Given the description of an element on the screen output the (x, y) to click on. 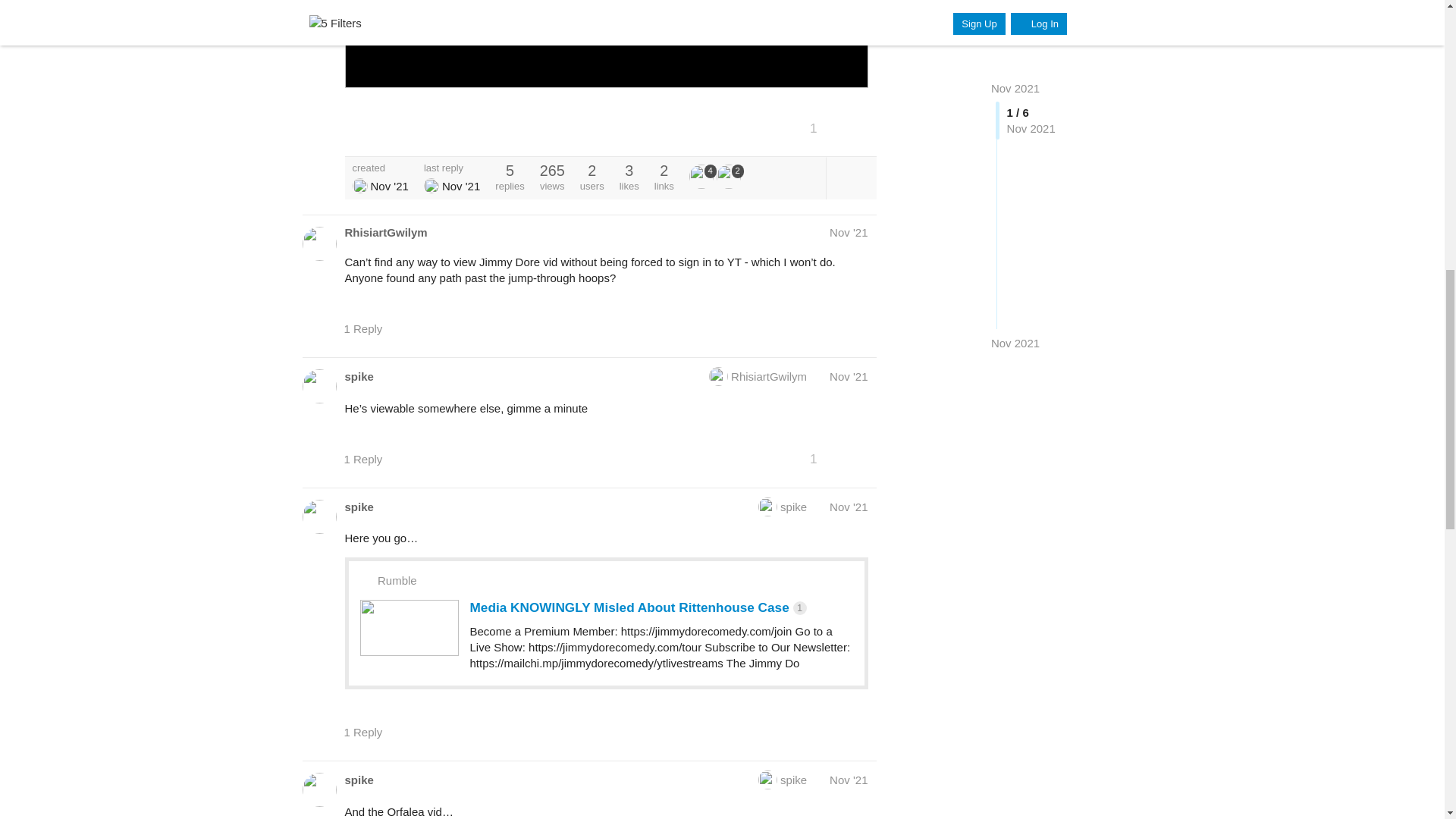
Media KNOWINGLY Misled About Rittenhouse Case (605, 43)
28 Nov 2021 05:19 (461, 185)
last reply (451, 167)
share a link to this post (861, 127)
spike (359, 185)
RhisiartGwilym (751, 375)
spike (357, 376)
spike (700, 176)
expand topic details (850, 178)
1 Reply (370, 328)
RhisiartGwilym (431, 185)
27 Nov 2021 04:14 (388, 185)
like this post (830, 127)
Nov '21 (848, 232)
RhisiartGwilym (384, 232)
